Given the description of an element on the screen output the (x, y) to click on. 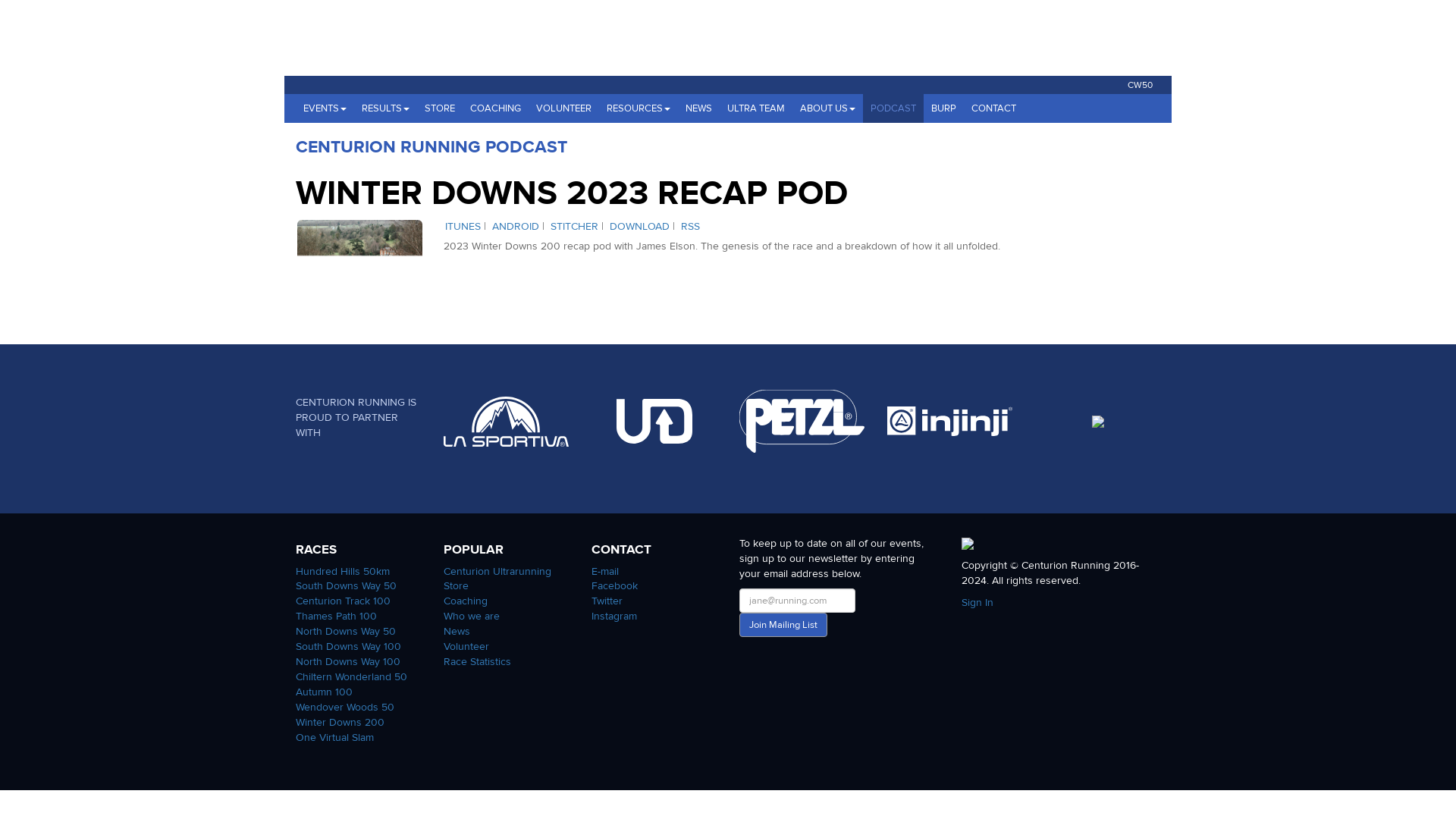
COACHING (495, 108)
VOLUNTEER (563, 108)
NEWS (698, 108)
RESULTS (384, 108)
RESOURCES (638, 108)
EVENTS (324, 108)
CW50 (1139, 84)
STORE (439, 108)
